Given the description of an element on the screen output the (x, y) to click on. 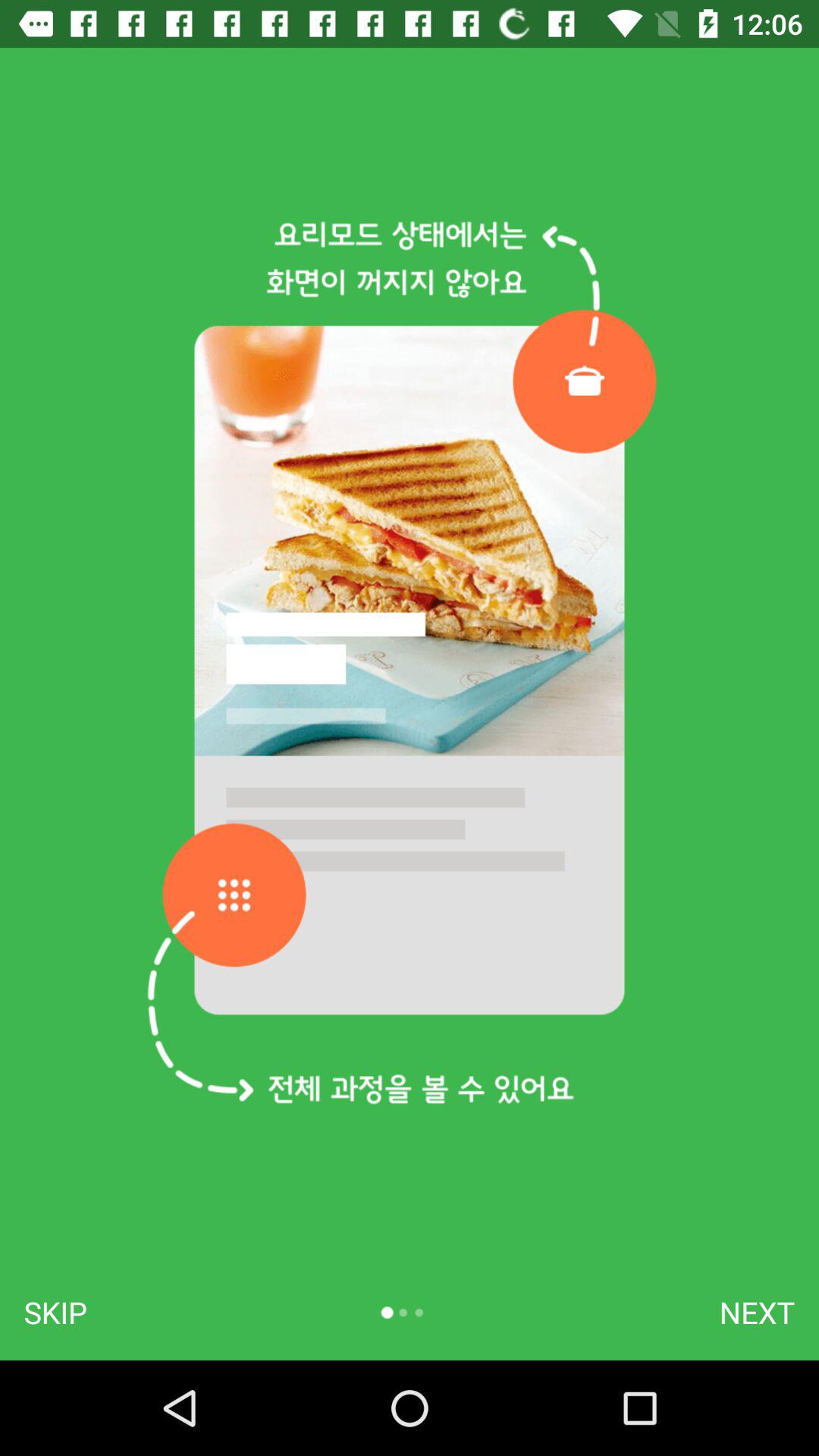
press item at the bottom left corner (55, 1312)
